Given the description of an element on the screen output the (x, y) to click on. 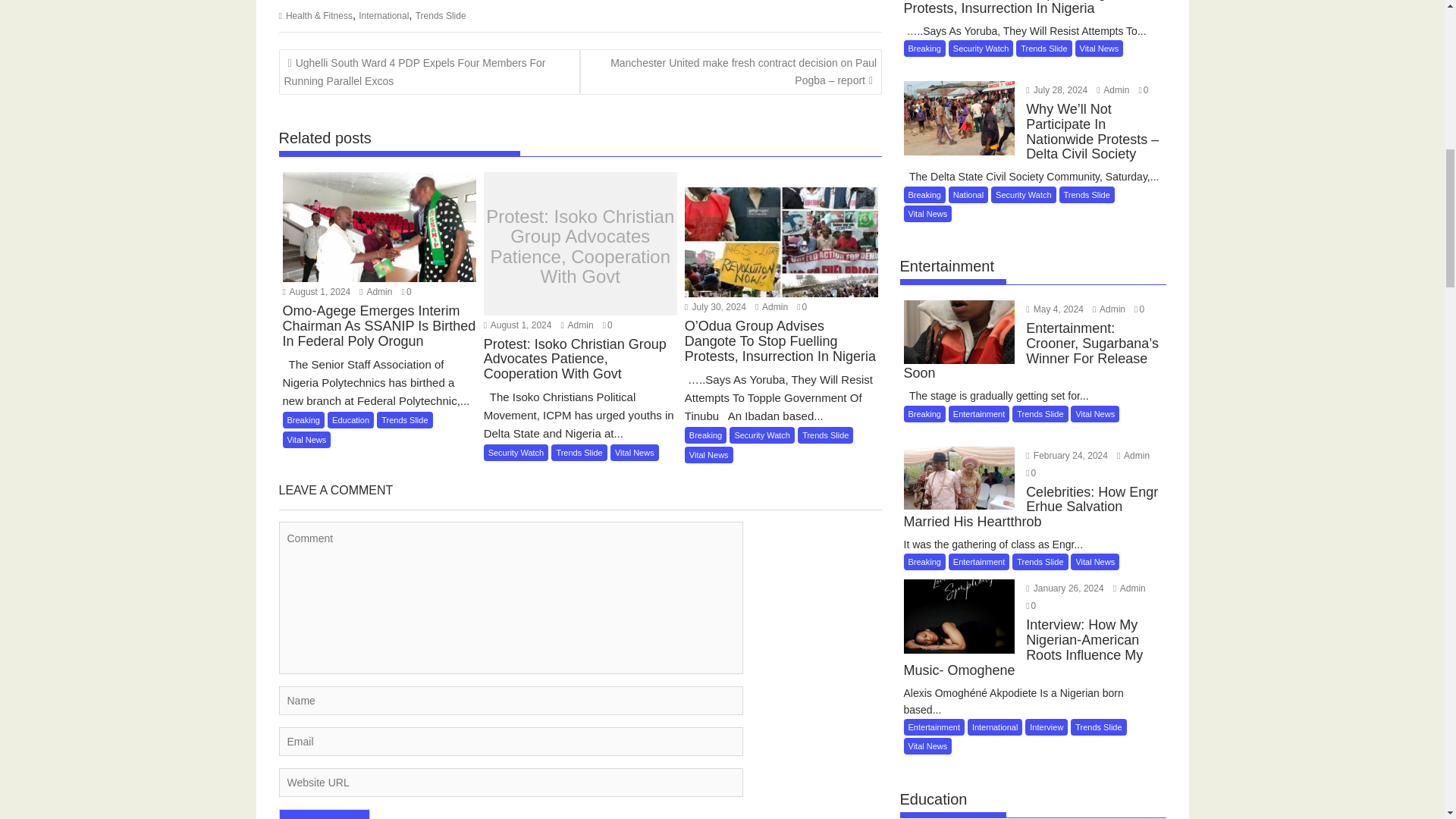
International (383, 15)
Trends Slide (439, 15)
Breaking (302, 419)
Add Comment (325, 814)
August 1, 2024 (316, 291)
Trends Slide (404, 419)
0 (406, 291)
Education (350, 419)
Admin (375, 291)
Admin (375, 291)
